Given the description of an element on the screen output the (x, y) to click on. 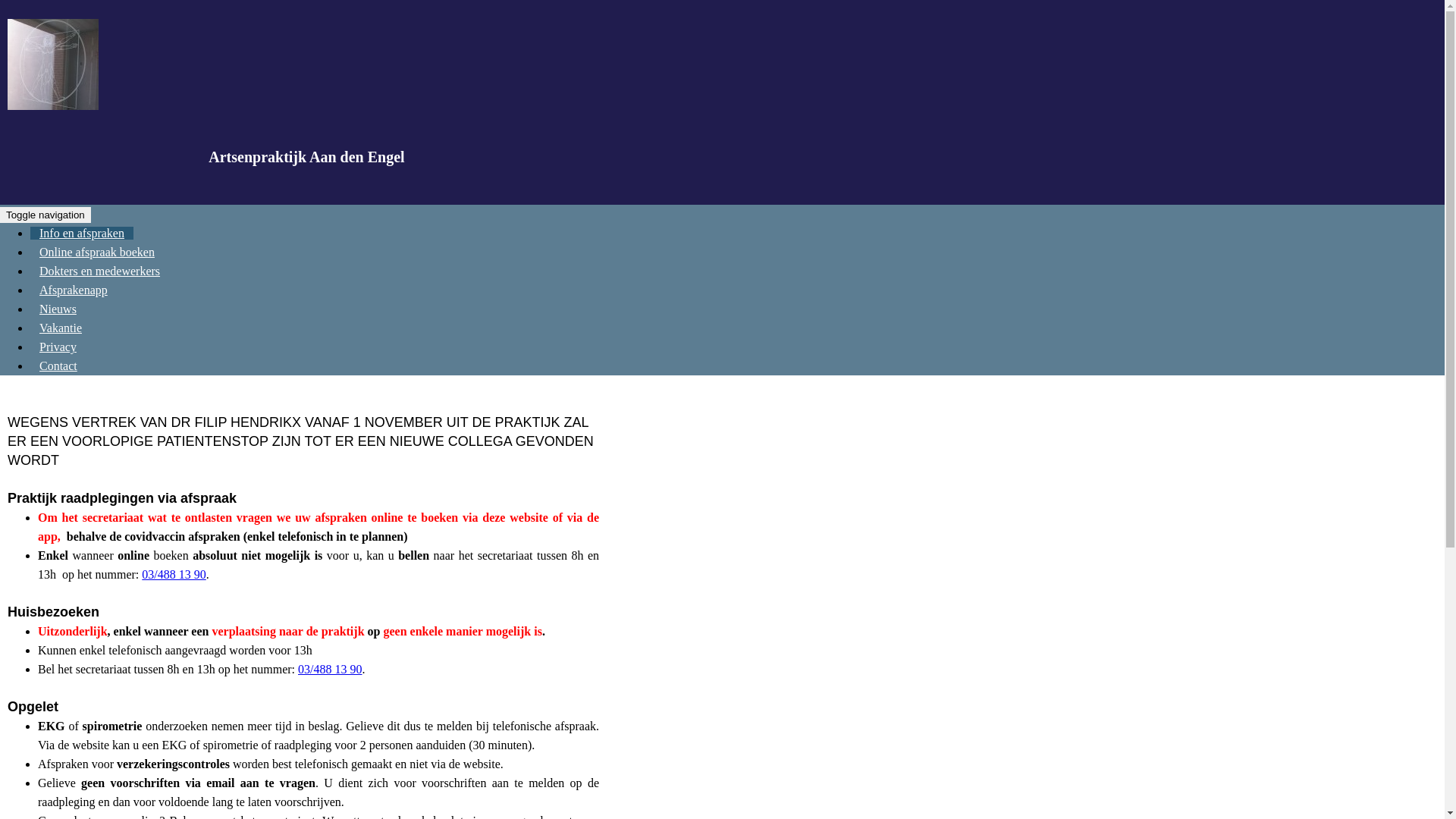
Toggle navigation Element type: text (45, 214)
03/488 13 90 Element type: text (173, 573)
Info en afspraken Element type: text (81, 232)
03/488 13 90 Element type: text (329, 668)
Nieuws Element type: text (57, 308)
Privacy Element type: text (57, 346)
Vakantie Element type: text (60, 327)
Afsprakenapp Element type: text (73, 289)
Online afspraak boeken Element type: text (96, 251)
Dokters en medewerkers Element type: text (99, 270)
Contact Element type: text (58, 365)
